Given the description of an element on the screen output the (x, y) to click on. 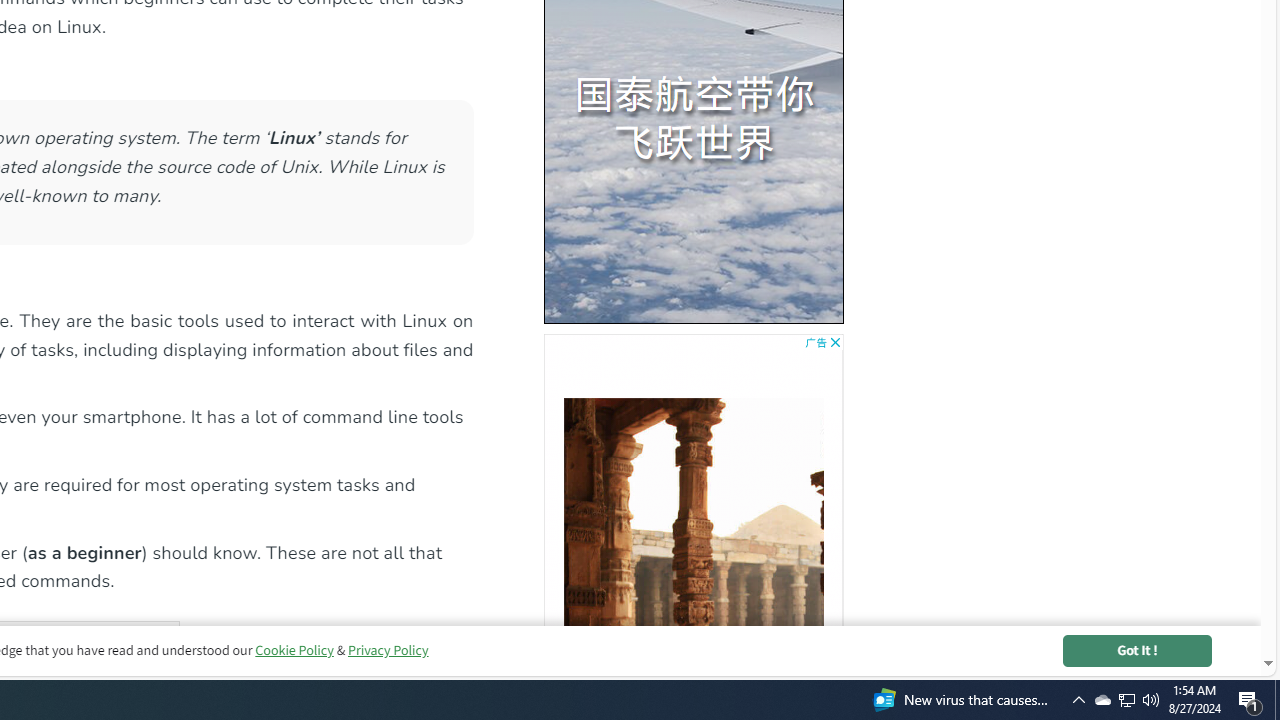
Privacy Policy (387, 650)
AutomationID: cbb (834, 341)
Cookie Policy (294, 650)
AutomationID: bg5 (693, 504)
Got It ! (1137, 650)
